Given the description of an element on the screen output the (x, y) to click on. 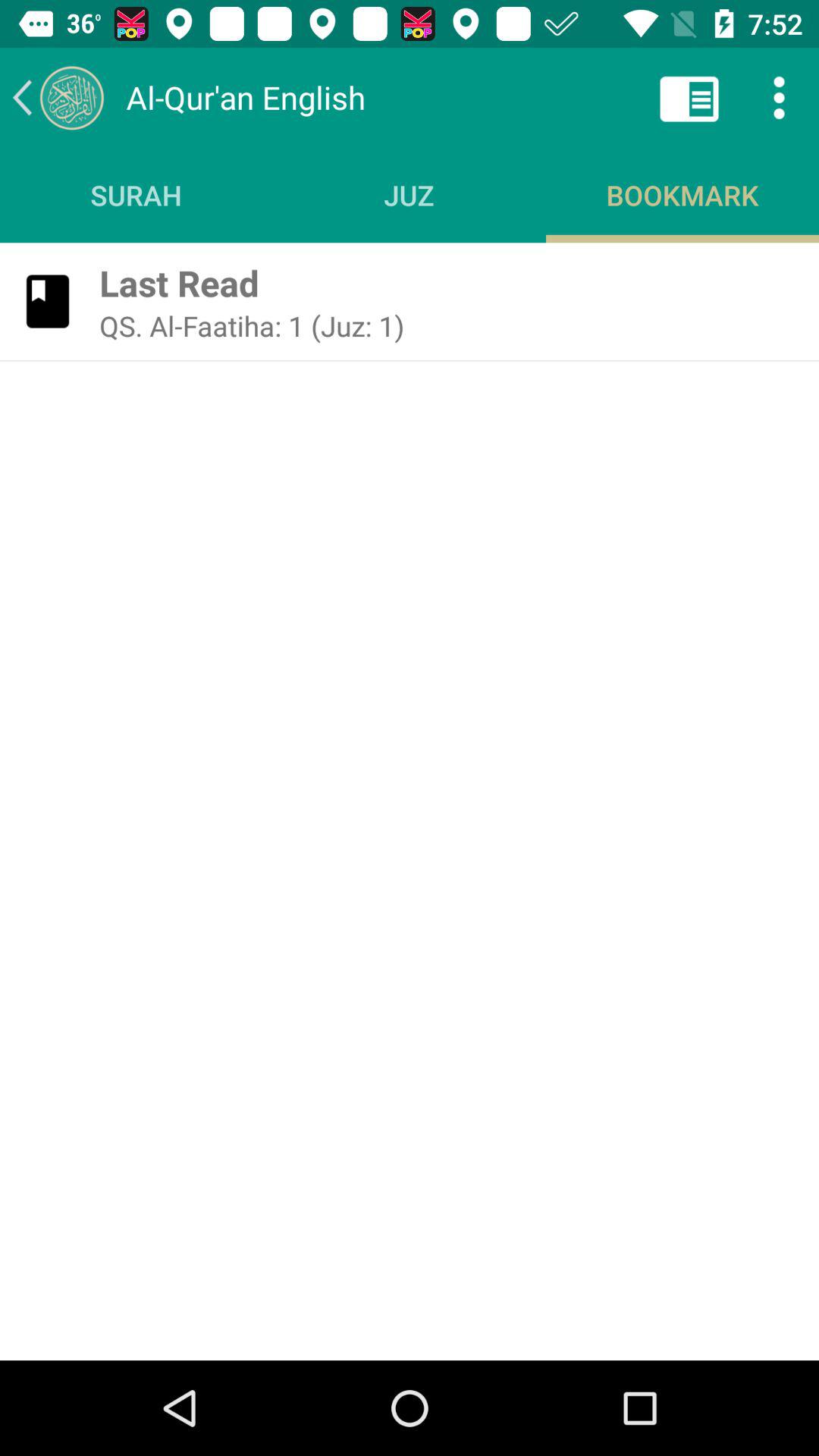
turn on icon above the bookmark (779, 97)
